Given the description of an element on the screen output the (x, y) to click on. 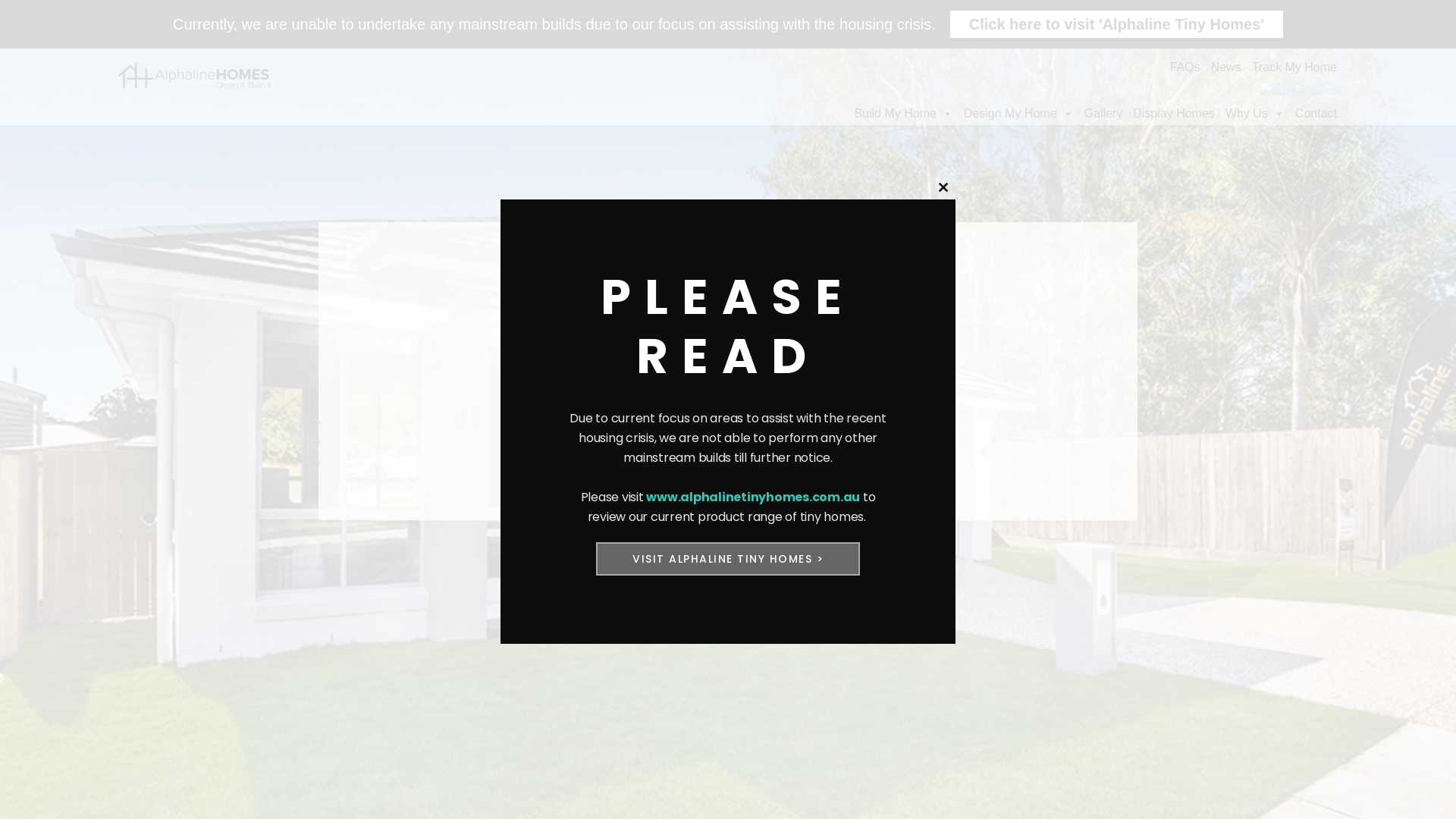
Gallery Element type: text (1103, 113)
Track My Home Element type: text (1294, 67)
VISIT ALPHALINE TINY HOMES > Element type: text (727, 558)
Close this module Element type: text (943, 187)
Build My Home Element type: text (902, 113)
www.alphalinetinyhomes.com.au Element type: text (752, 496)
home page Element type: text (764, 441)
News Element type: text (1225, 67)
Why Us Element type: text (1254, 113)
Click here to visit 'Alphaline Tiny Homes' Element type: text (1116, 23)
AH-logo_LND-[RVSE] Element type: hover (194, 77)
Design My Home Element type: text (1018, 113)
Display Homes Element type: text (1173, 113)
Contact Element type: text (1315, 113)
FAQs Element type: text (1184, 67)
Back Element type: text (738, 461)
